Given the description of an element on the screen output the (x, y) to click on. 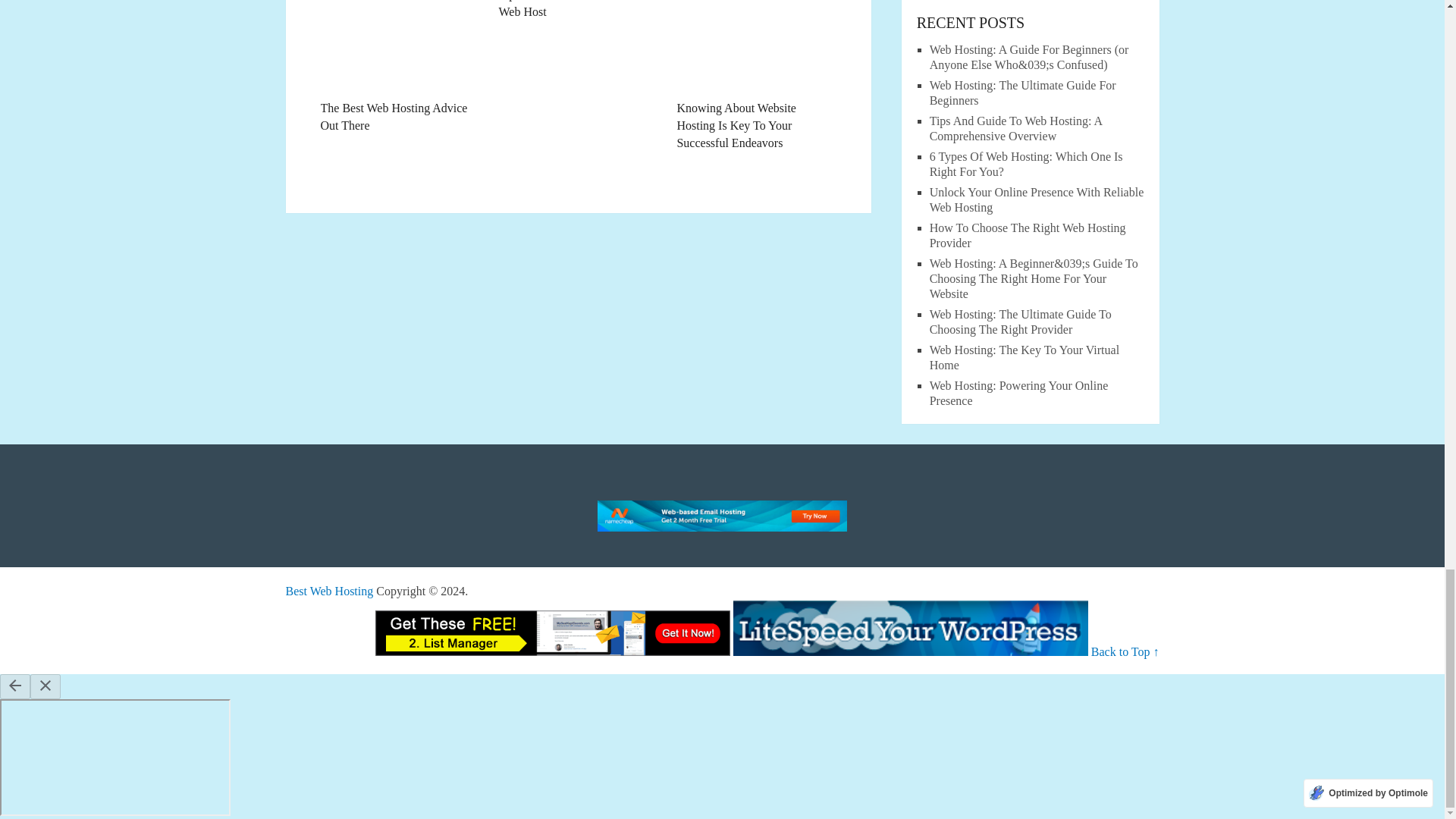
The Best Web Hosting Advice Out There (399, 67)
Tips On What To Look For In A Web Host (577, 10)
Tips On What To Look For In A Web Host (577, 10)
The Best Web Hosting Advice Out There (399, 67)
